Given the description of an element on the screen output the (x, y) to click on. 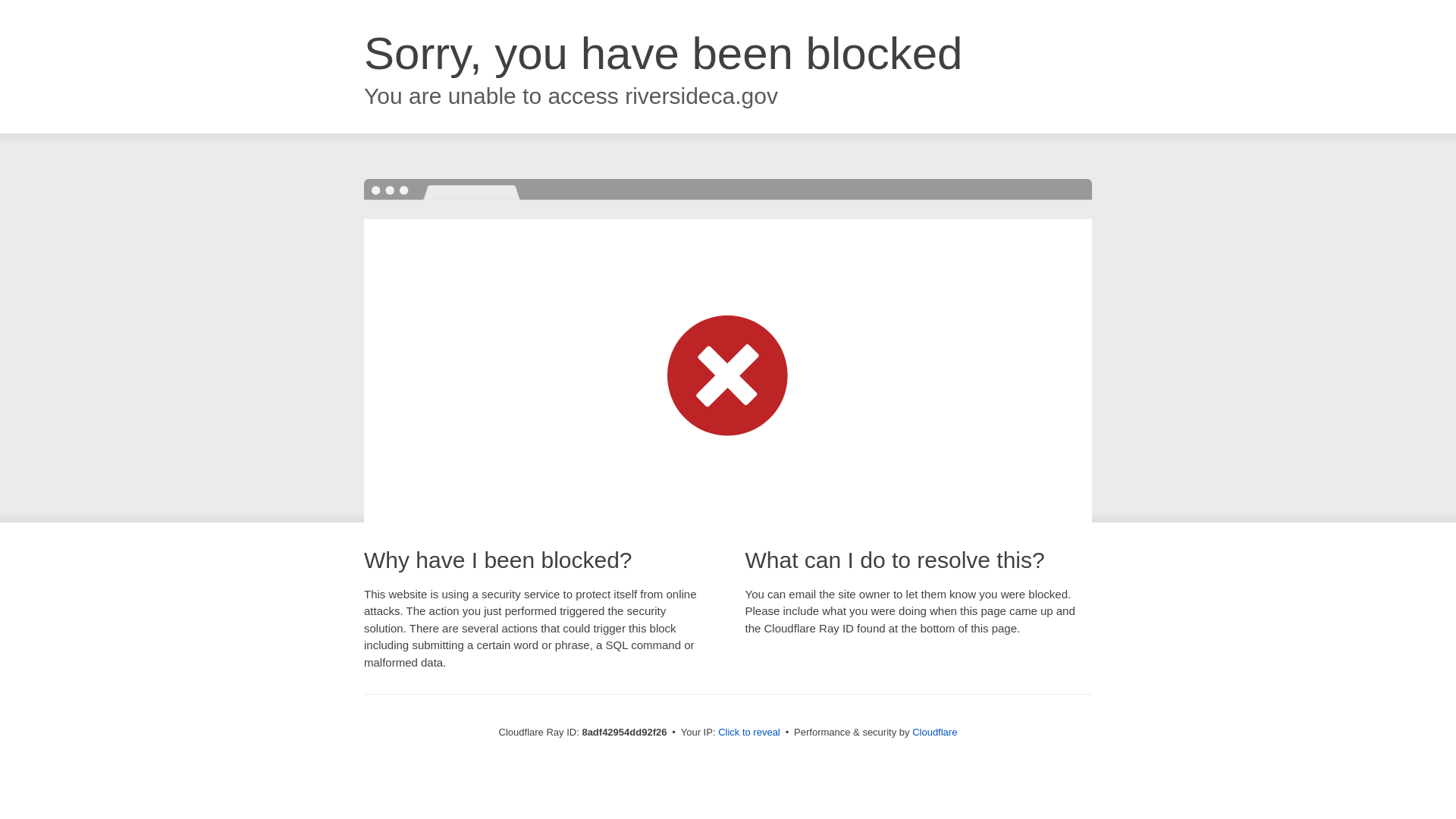
Cloudflare (934, 731)
Click to reveal (748, 732)
